Given the description of an element on the screen output the (x, y) to click on. 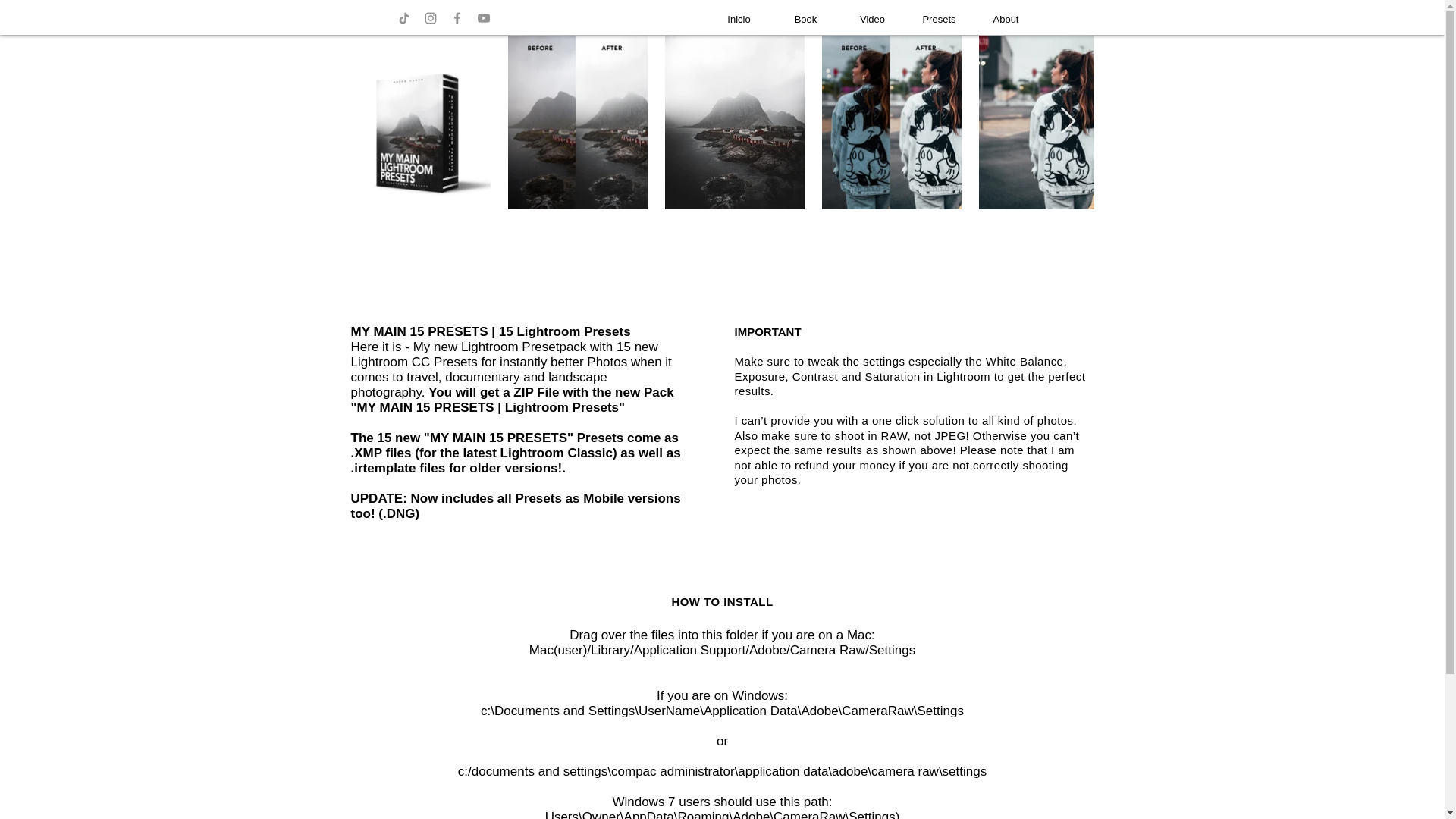
Inicio (737, 19)
Video (871, 19)
Book (804, 19)
About (1005, 19)
Presets (938, 19)
